Given the description of an element on the screen output the (x, y) to click on. 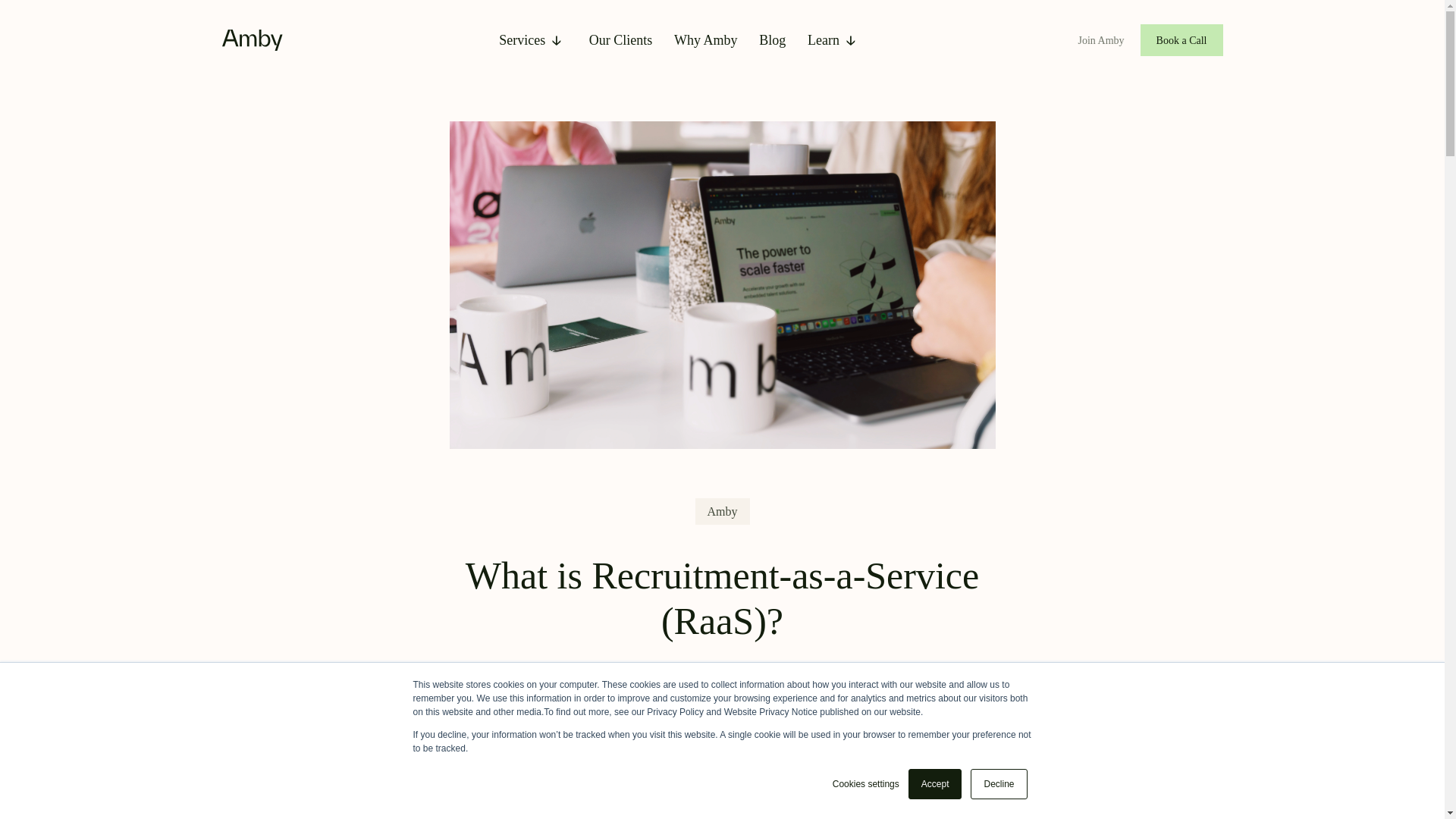
More posts about amby (721, 510)
Decline (998, 784)
Learn (834, 40)
Services (533, 40)
Book a Call (1181, 40)
What are the benefits of RaaS? (120, 797)
Amby (721, 510)
amby-logo (251, 39)
Why Amby (706, 39)
Join Amby (1109, 40)
Blog (772, 39)
Our Clients (620, 39)
Accept (935, 784)
Cookies settings (865, 784)
